Given the description of an element on the screen output the (x, y) to click on. 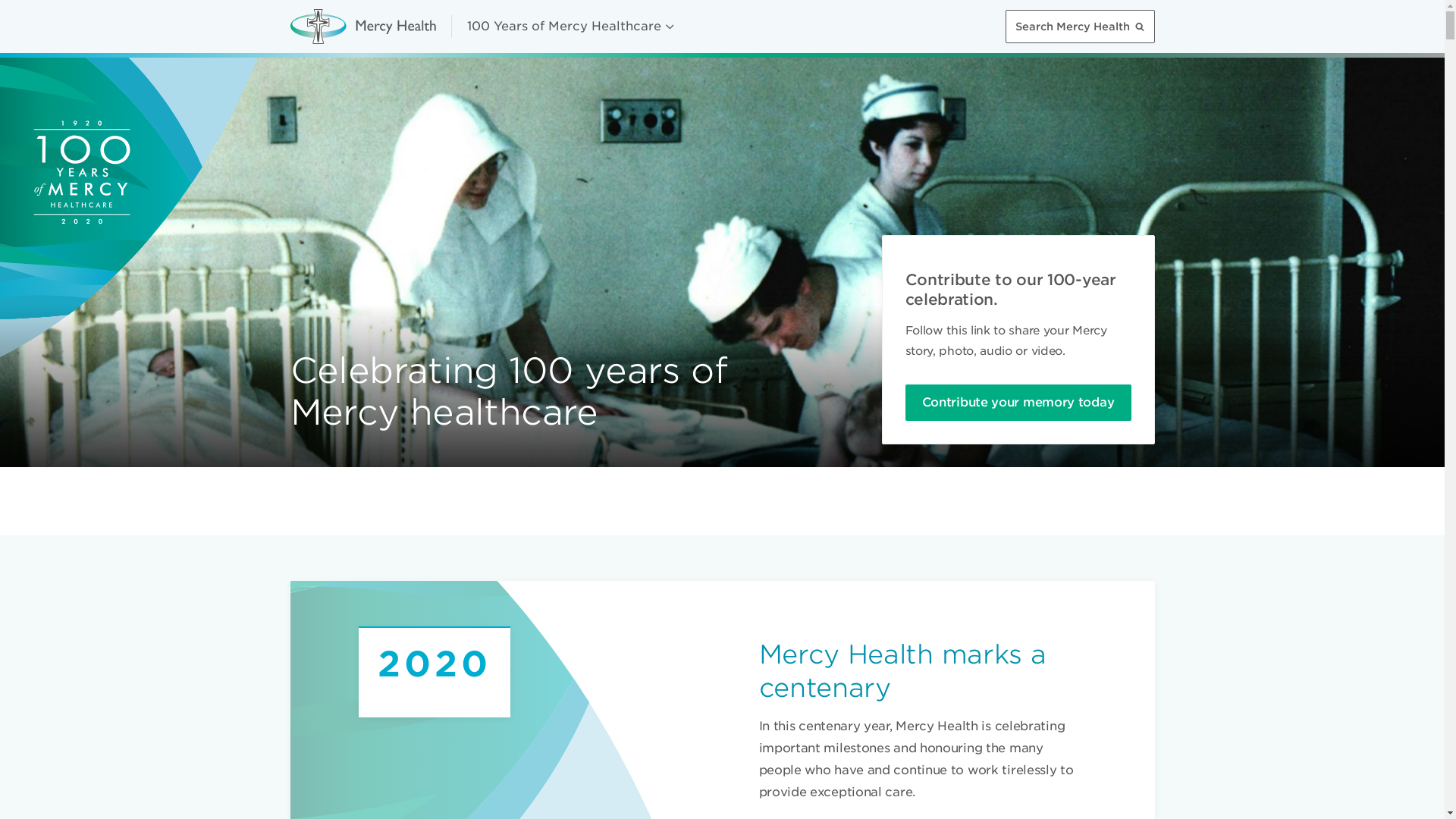
Search Mercy Health Element type: text (1079, 26)
Contribute your memory today Element type: text (1018, 402)
100 Years of Mercy Healthcare Element type: text (569, 26)
100 Years of Mercy Healthcare (home page) Element type: text (362, 26)
